Given the description of an element on the screen output the (x, y) to click on. 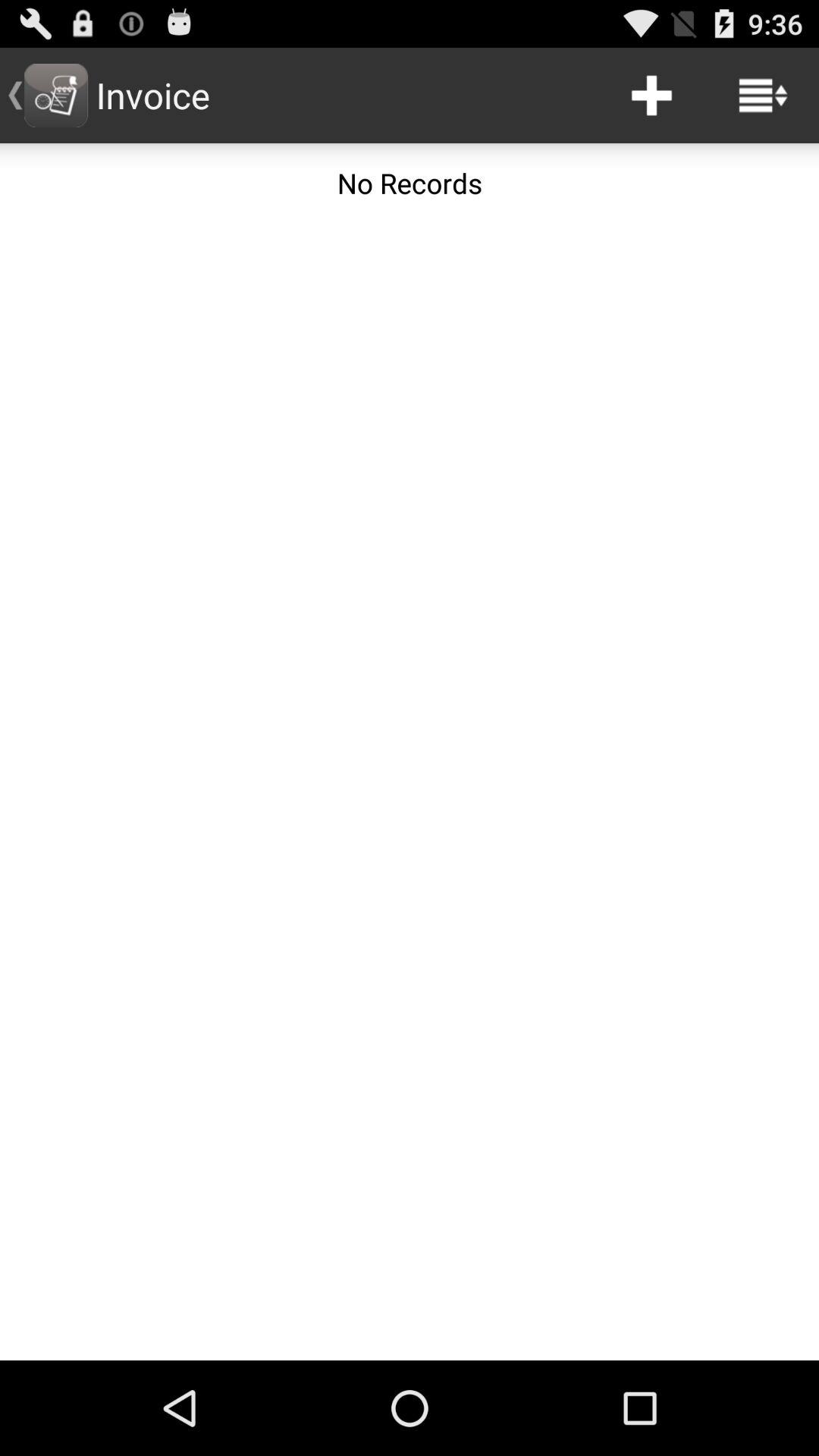
launch the icon below the no records icon (409, 791)
